Given the description of an element on the screen output the (x, y) to click on. 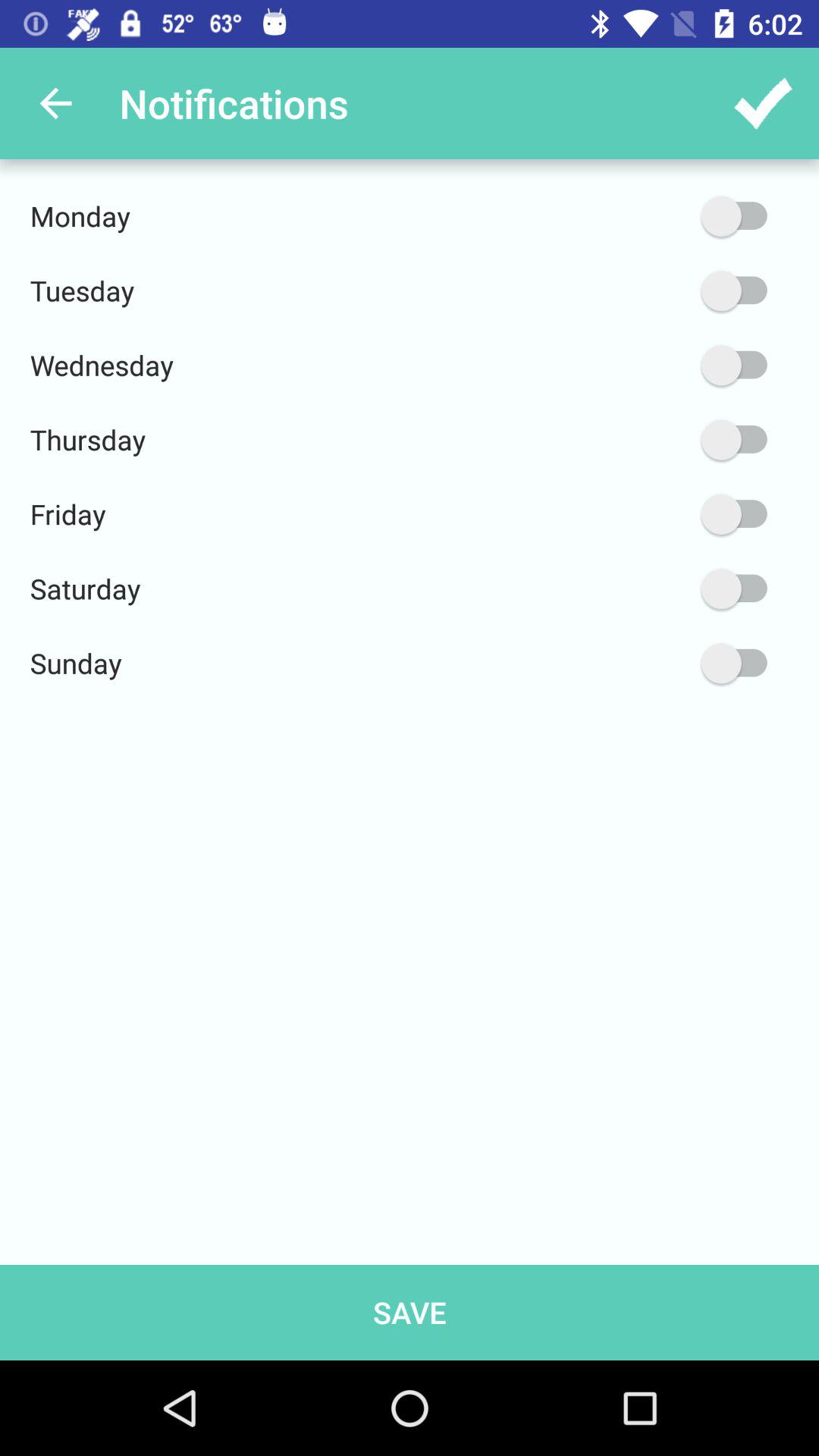
activate wednesday (661, 365)
